Given the description of an element on the screen output the (x, y) to click on. 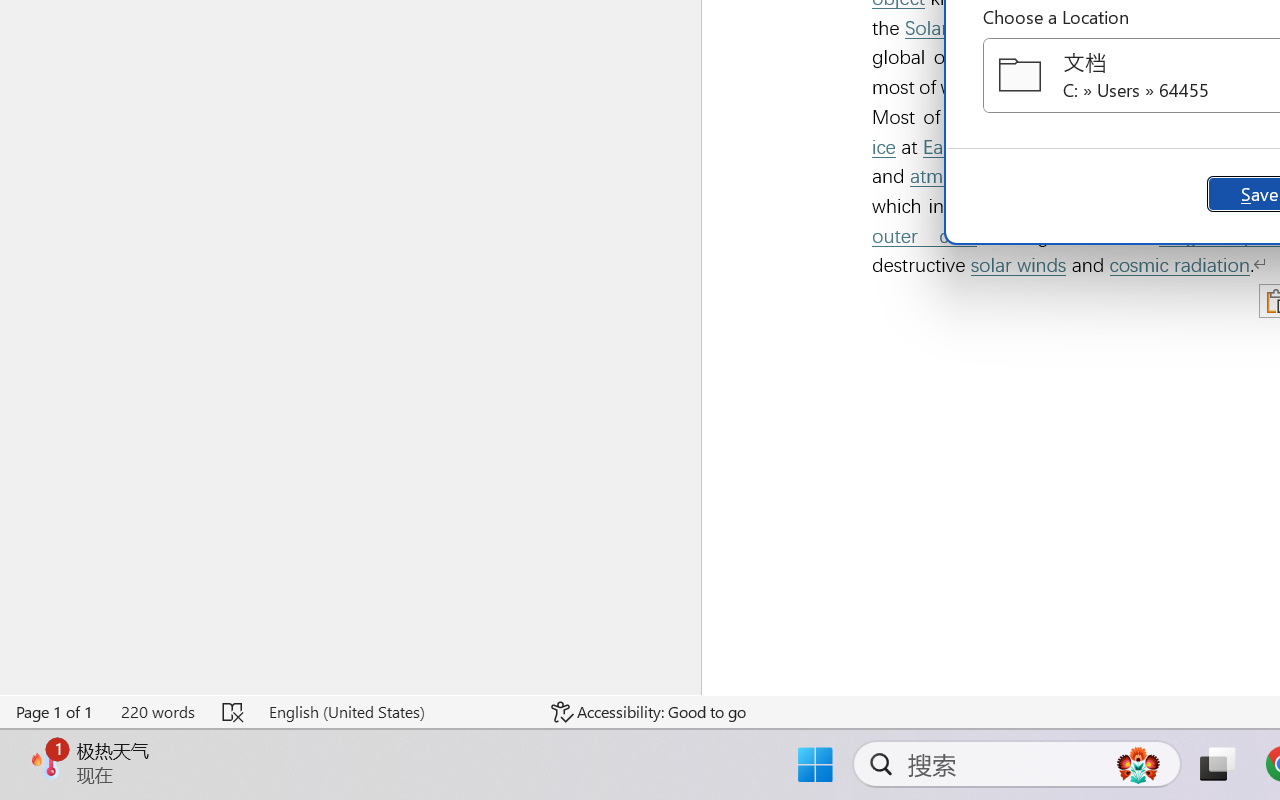
Spelling and Grammar Check Errors (234, 712)
